Given the description of an element on the screen output the (x, y) to click on. 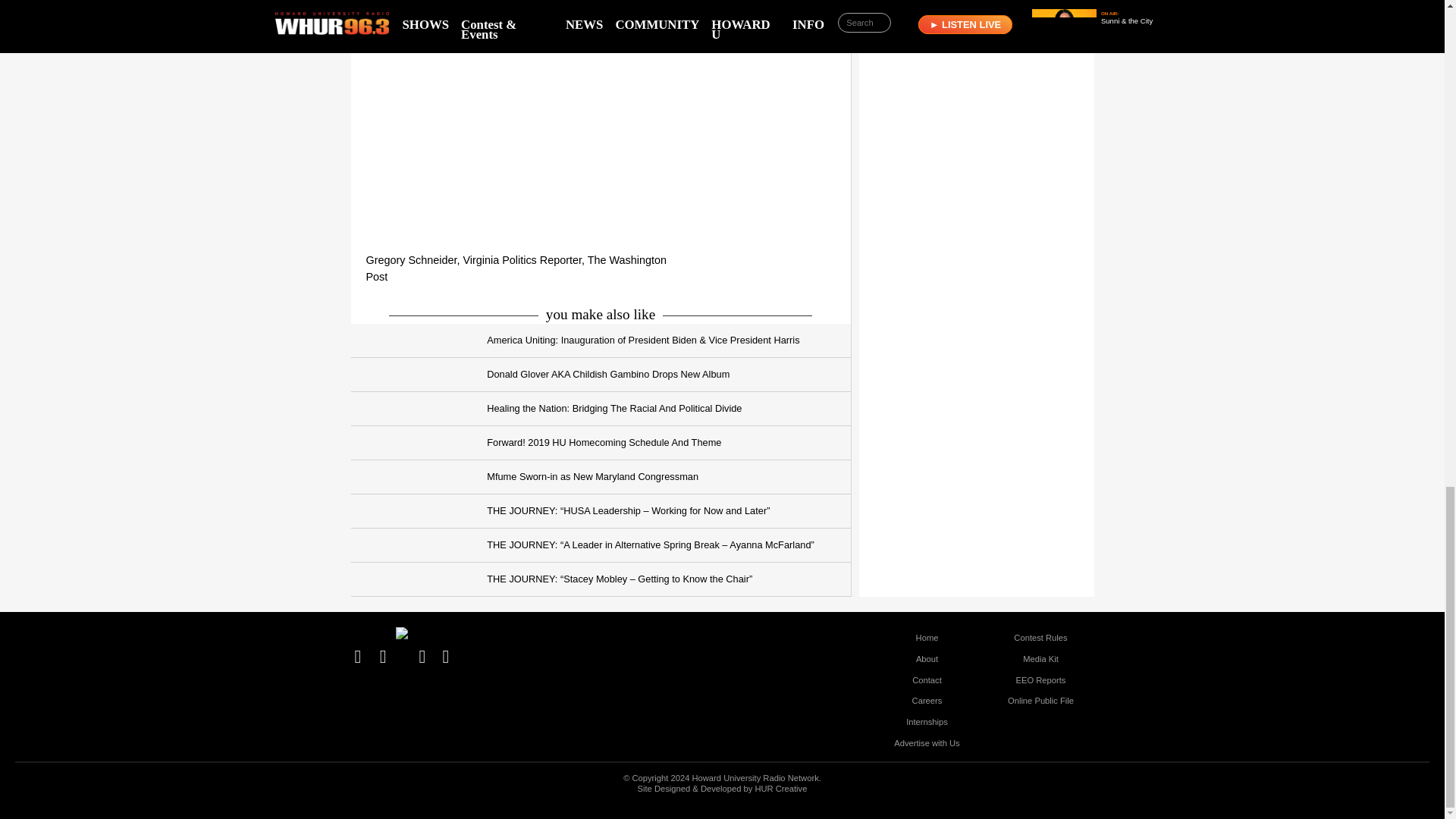
Mfume Sworn-in as New Maryland Congressman (600, 477)
Donald Glover AKA Childish Gambino Drops New Album (600, 374)
Healing the Nation: Bridging The Racial And Political Divide (600, 408)
Forward! 2019 HU Homecoming Schedule And Theme (600, 442)
